Given the description of an element on the screen output the (x, y) to click on. 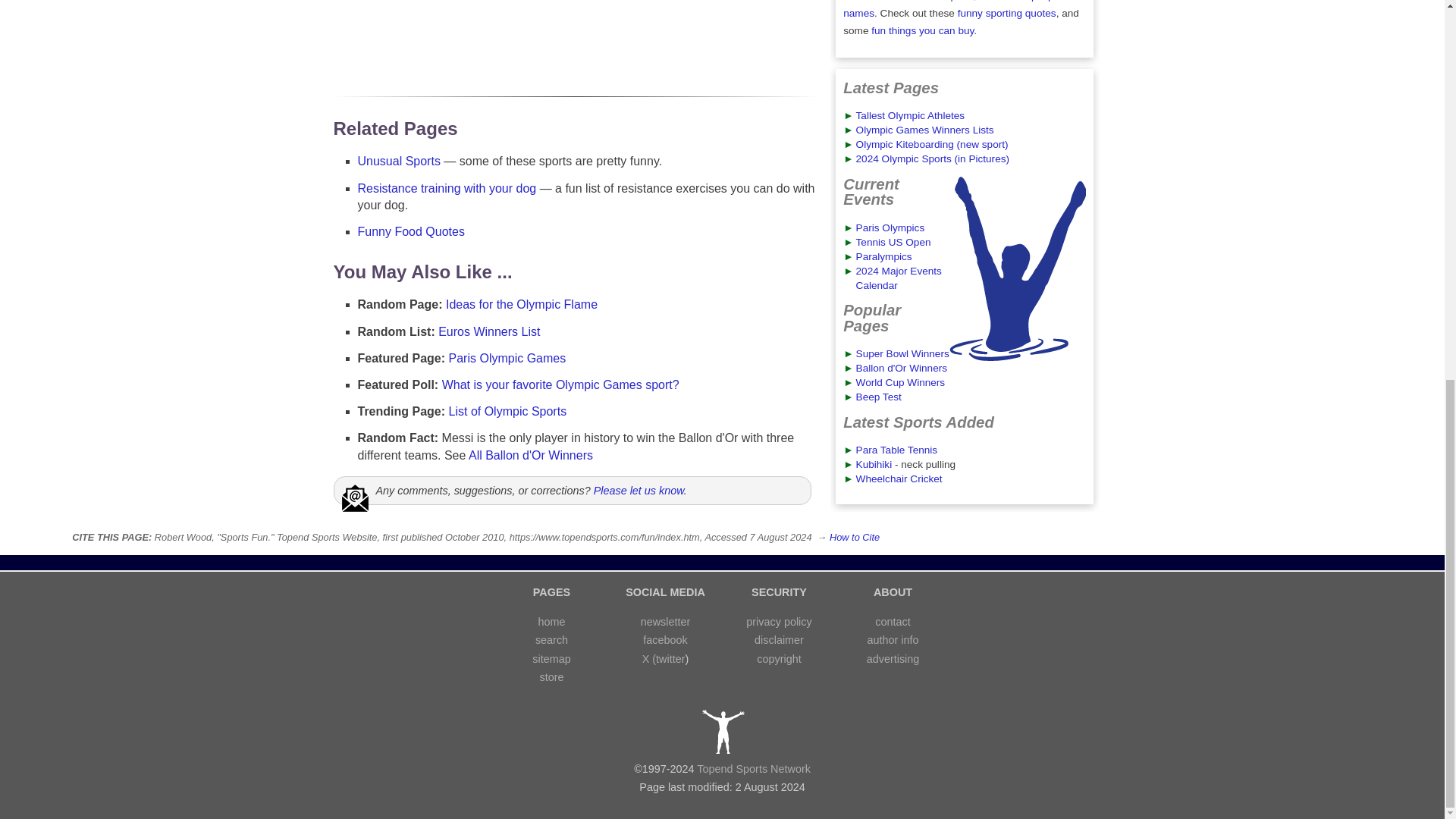
All Ballon d'Or Winners (530, 454)
Ideas for the Olympic Flame (520, 304)
Funny Food Quotes (411, 231)
Unusual Sports (399, 160)
Euros Winners List (489, 331)
Please let us know (639, 490)
Resistance training with your dog (447, 187)
List of Olympic Sports (507, 410)
What is your favorite Olympic Games sport? (560, 384)
Paris Olympic Games (507, 358)
